Given the description of an element on the screen output the (x, y) to click on. 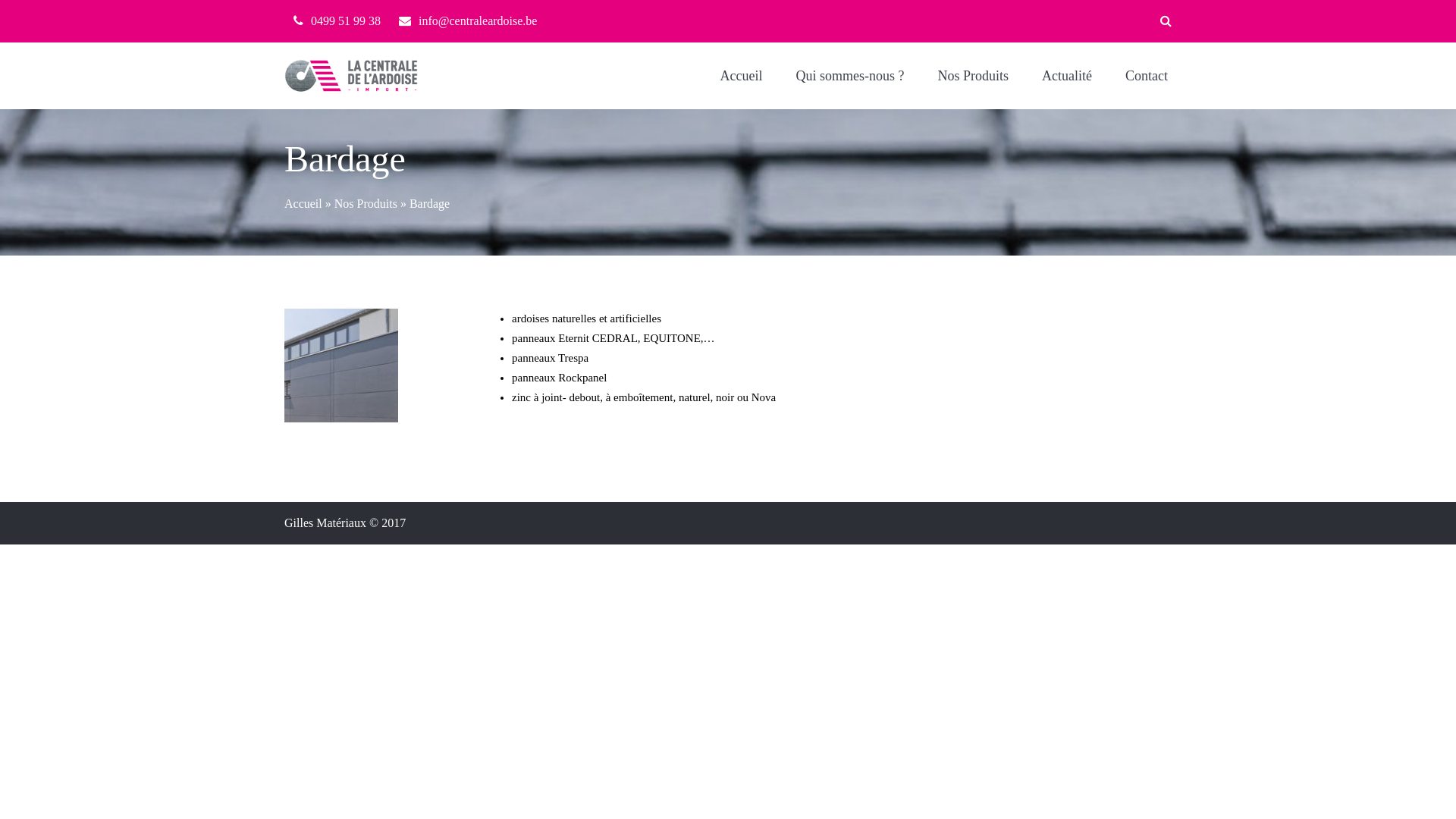
info@centraleardoise.be Element type: text (477, 20)
Nos Produits Element type: text (365, 203)
Qui sommes-nous ? Element type: text (850, 75)
Accueil Element type: text (303, 203)
0499 51 99 38 Element type: text (345, 20)
Accueil Element type: text (741, 75)
Nos Produits Element type: text (972, 75)
Contact Element type: text (1140, 75)
